Given the description of an element on the screen output the (x, y) to click on. 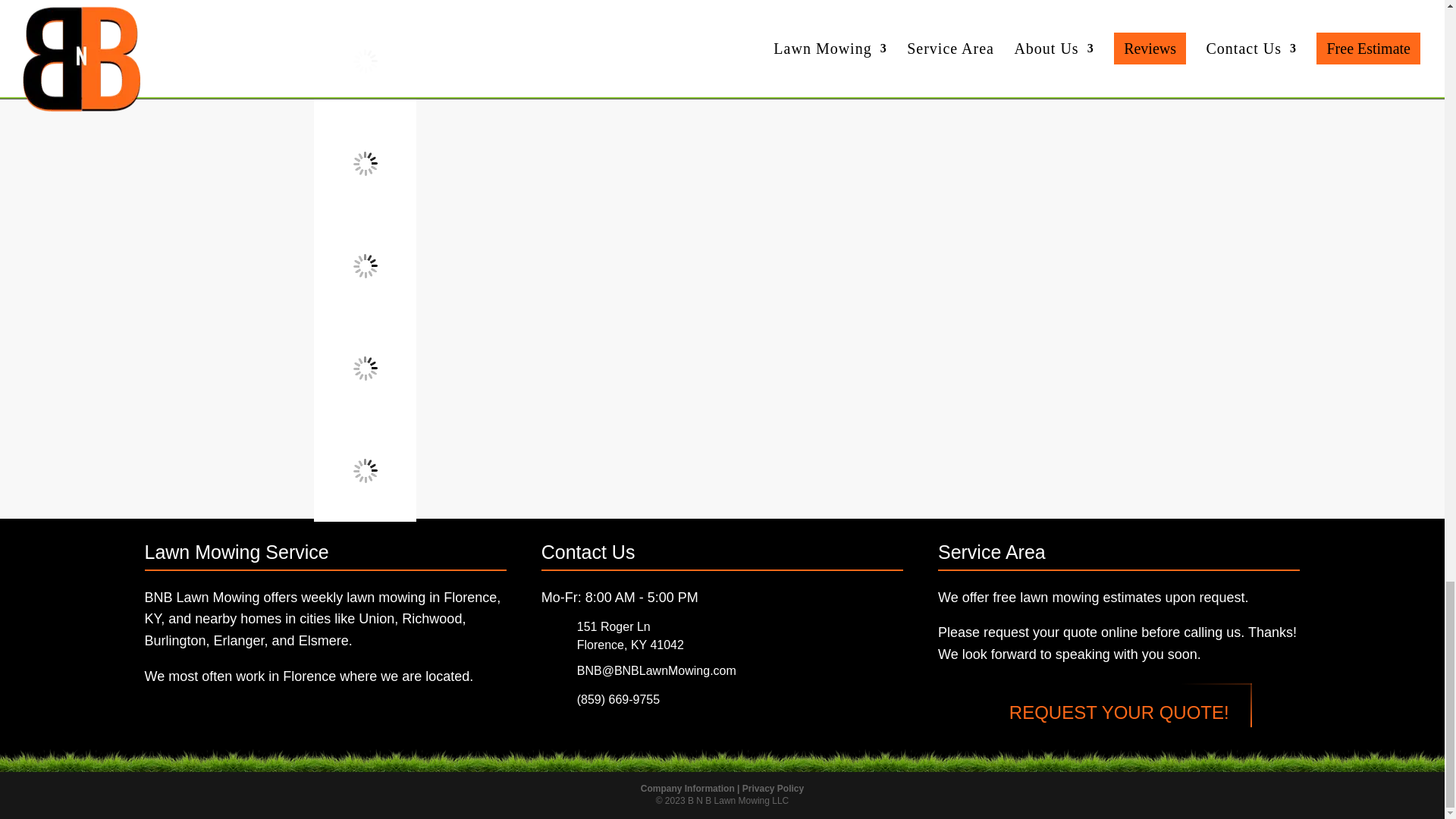
employee pruning shrubs (365, 265)
employee cleaning up landscape (365, 470)
employee spraying weeds (365, 163)
employee raking leaves (365, 367)
employee spraying mosquitoes (365, 60)
employee spreading mulch (365, 4)
REQUEST YOUR QUOTE! (1119, 712)
Privacy Policy (772, 787)
